Given the description of an element on the screen output the (x, y) to click on. 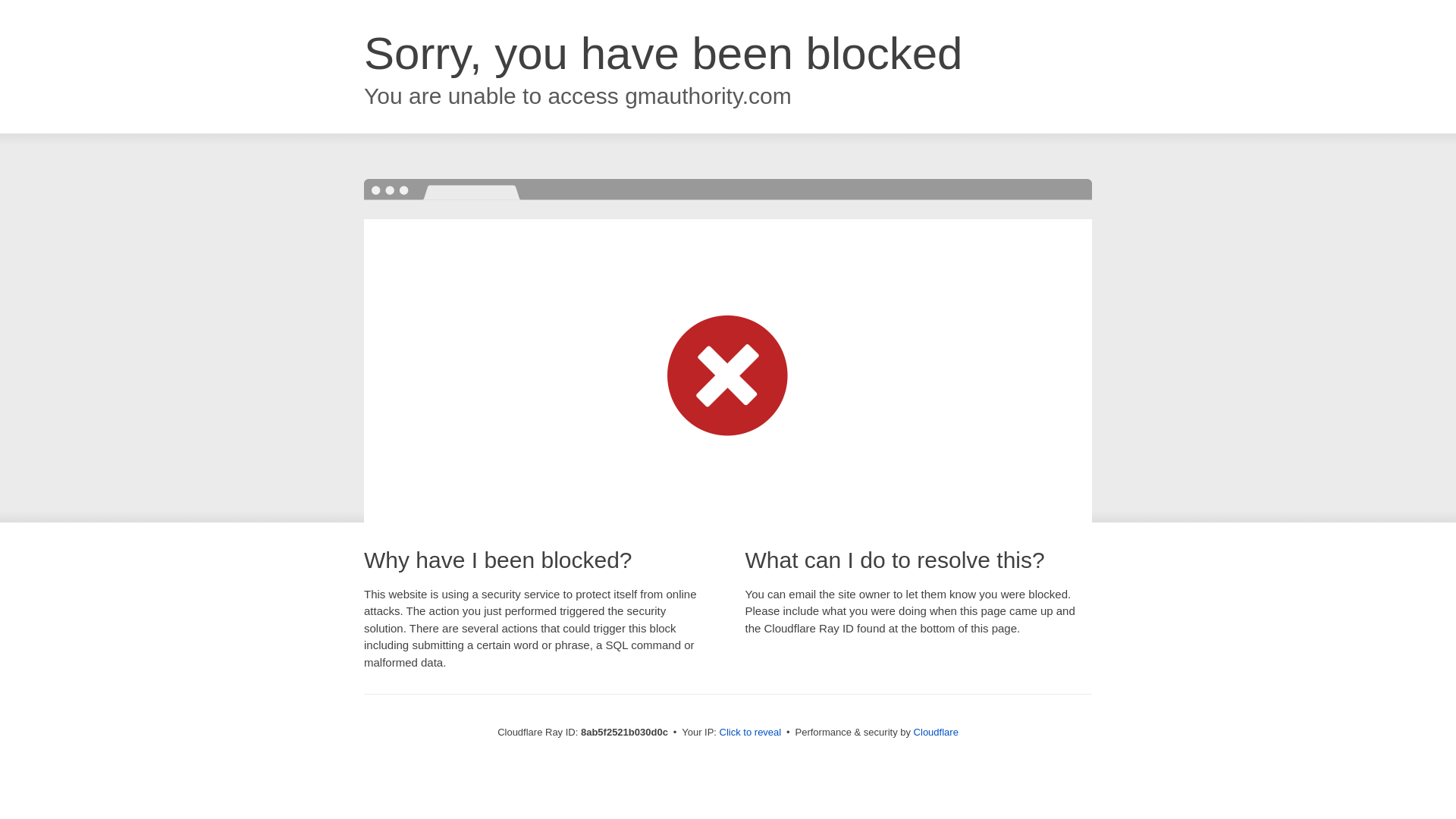
Cloudflare (936, 731)
Click to reveal (750, 732)
